Given the description of an element on the screen output the (x, y) to click on. 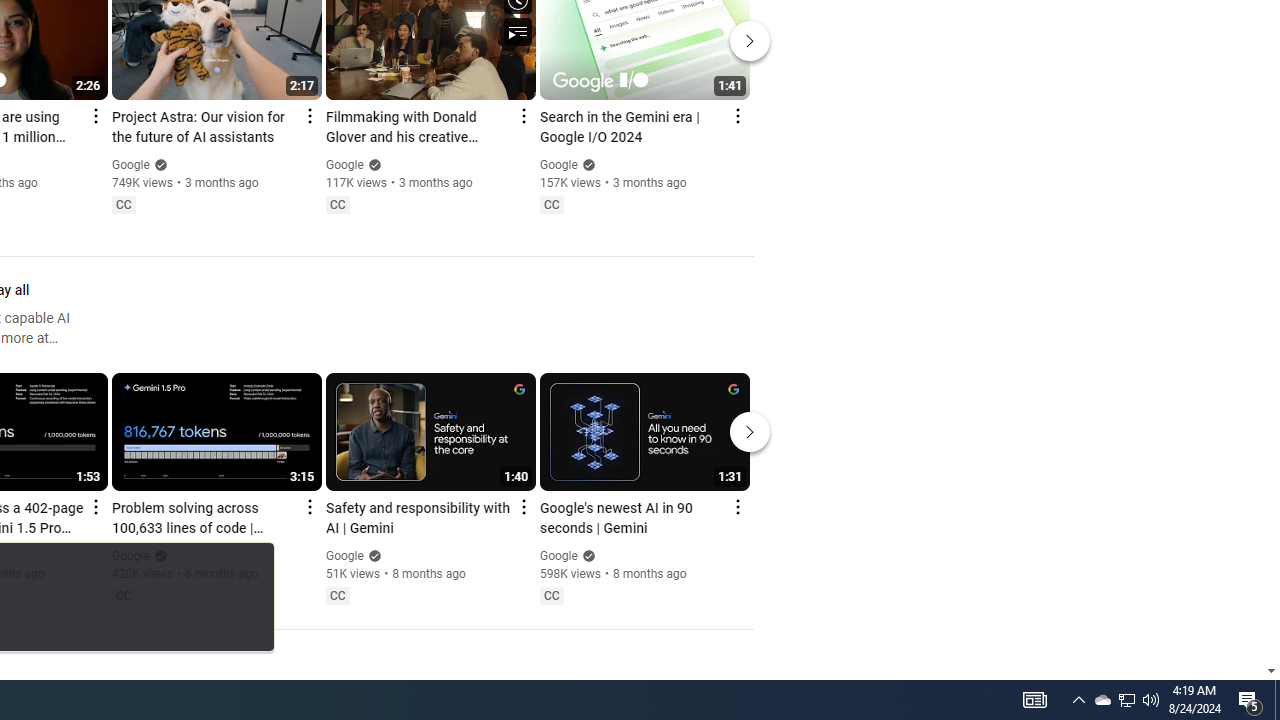
Closed captions (551, 595)
Action menu (736, 506)
Verified (586, 555)
Next (749, 431)
